Given the description of an element on the screen output the (x, y) to click on. 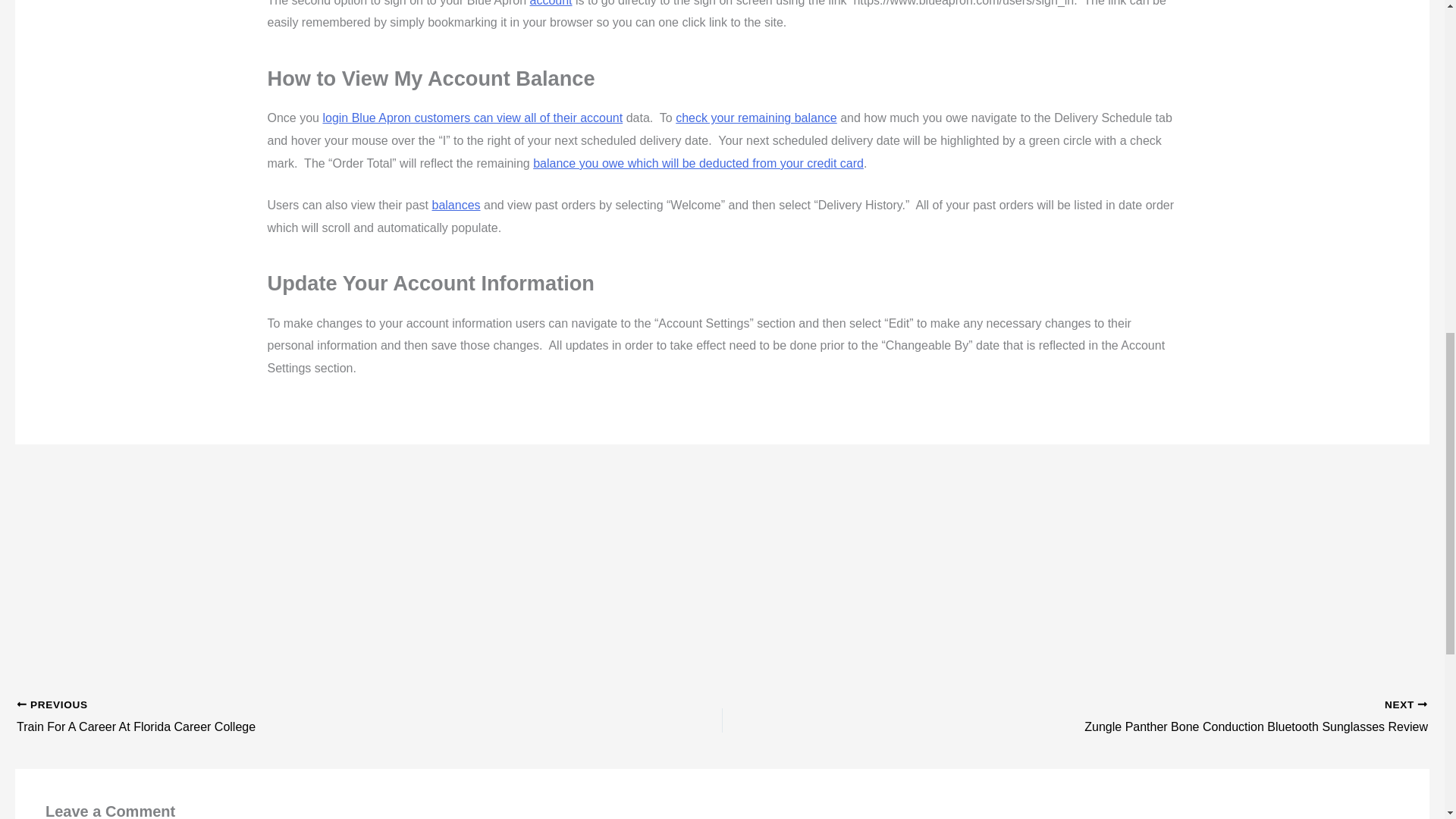
login Blue Apron customers can view all of their account (299, 717)
balances (472, 117)
account (455, 205)
Zungle Panther Bone Conduction Bluetooth Sunglasses Review (550, 3)
balance you owe which will be deducted from your credit card (1144, 717)
Train For A Career At Florida Career College (697, 163)
check your remaining balance (299, 717)
